Given the description of an element on the screen output the (x, y) to click on. 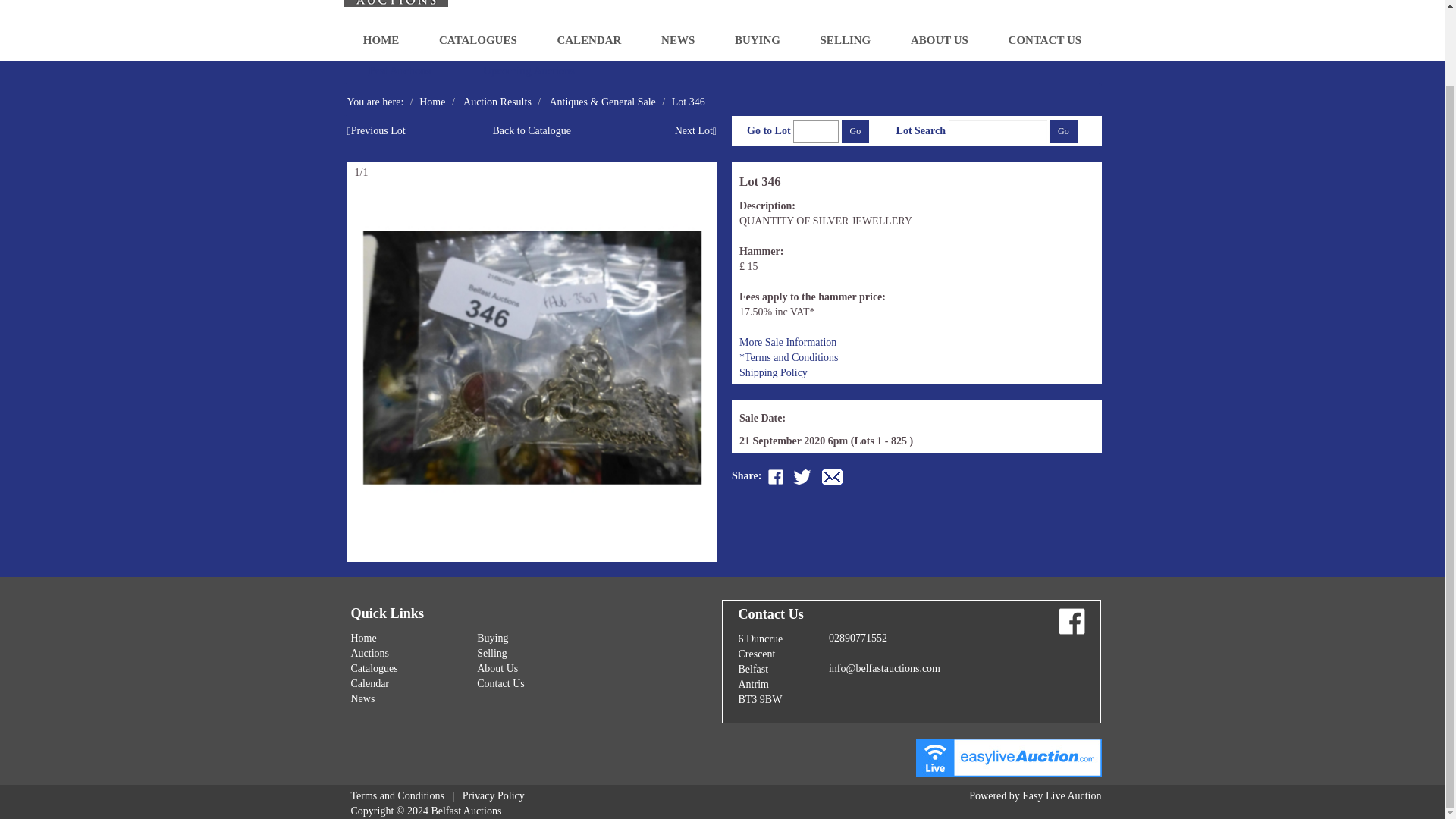
CALENDAR (589, 39)
Go (1063, 130)
More Sale Information (787, 342)
ABOUT US (939, 39)
HOME (381, 39)
Home (362, 637)
Home (432, 101)
CONTACT US (1043, 39)
NEWS (677, 39)
BUYING (757, 39)
Previous Lot (376, 130)
Upcoming Auctions (528, 70)
Shipping Policy (773, 372)
Auction Results (497, 101)
Back to Catalogue (532, 130)
